Given the description of an element on the screen output the (x, y) to click on. 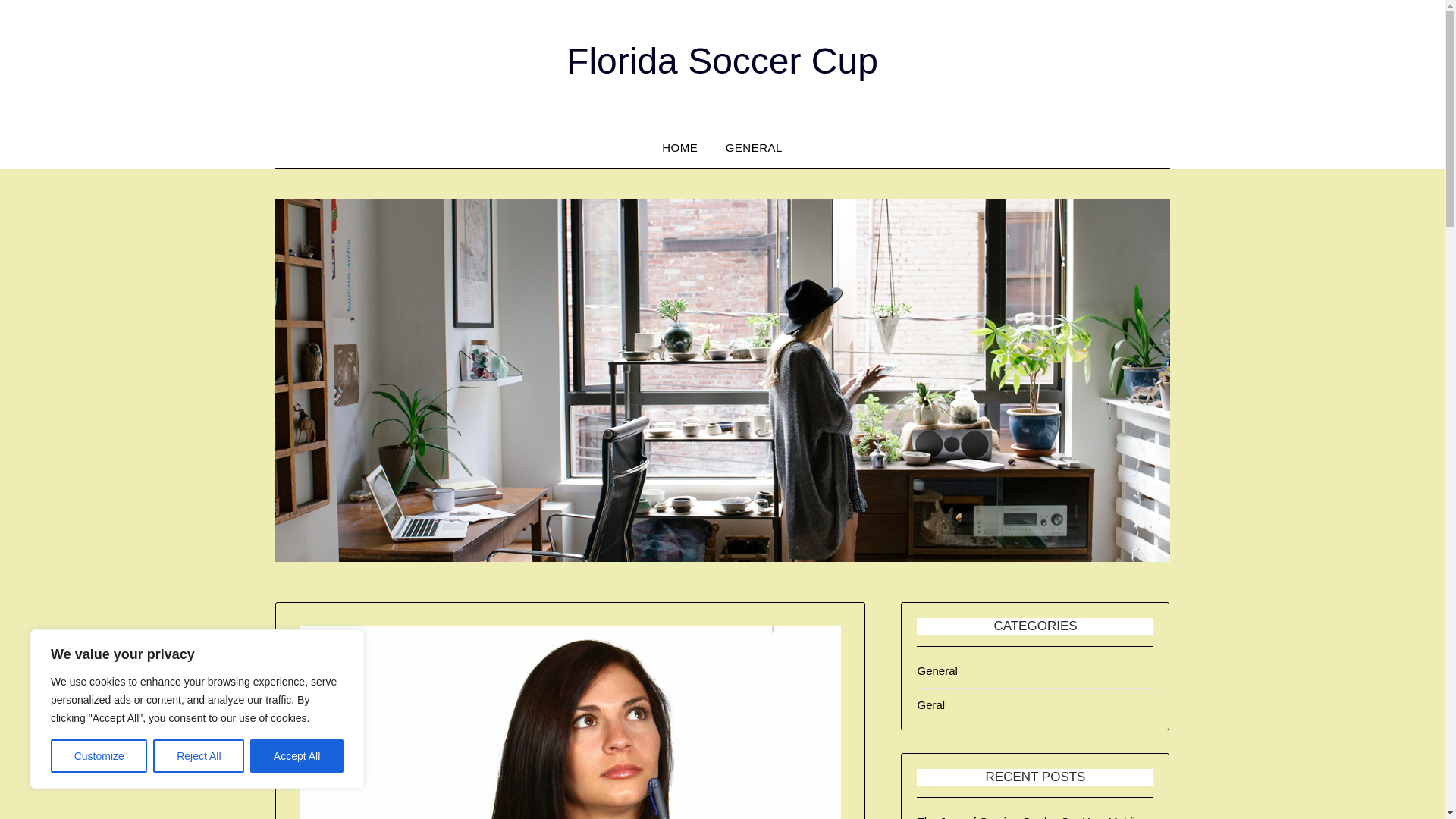
Accept All (296, 756)
Geral (930, 704)
GENERAL (753, 147)
Reject All (198, 756)
HOME (679, 147)
General (936, 670)
Customize (98, 756)
Florida Soccer Cup (721, 60)
